Given the description of an element on the screen output the (x, y) to click on. 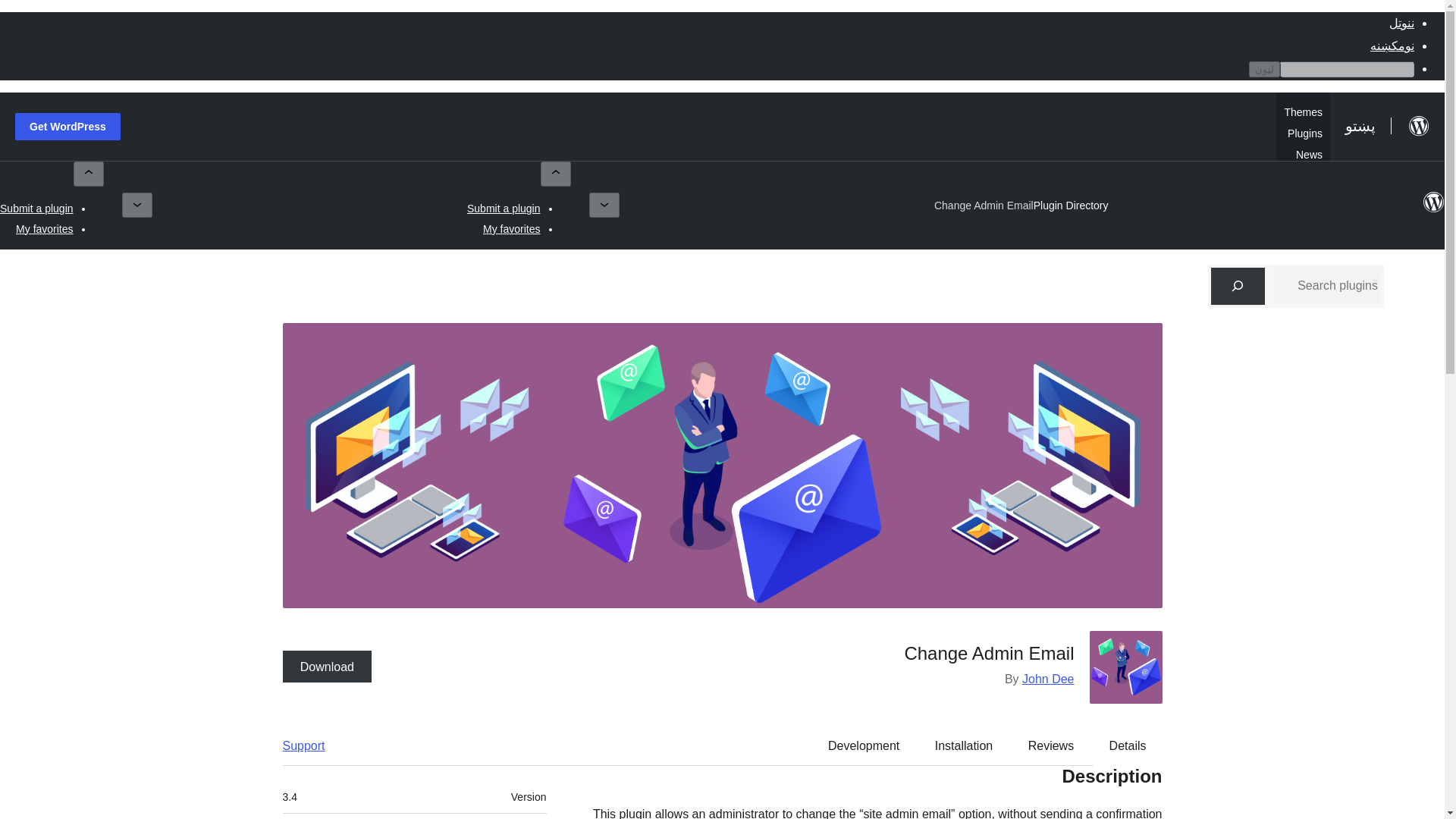
Installation (964, 745)
Details (1127, 745)
Support (310, 745)
Reviews (1051, 745)
John Dee (1048, 678)
Get WordPress (67, 126)
Themes (1303, 110)
My favorites (511, 228)
Plugins (1304, 131)
Plugin Directory (1070, 205)
Development (863, 745)
Submit a plugin (503, 208)
My favorites (44, 228)
Change Admin Email (983, 205)
Submit a plugin (37, 208)
